Given the description of an element on the screen output the (x, y) to click on. 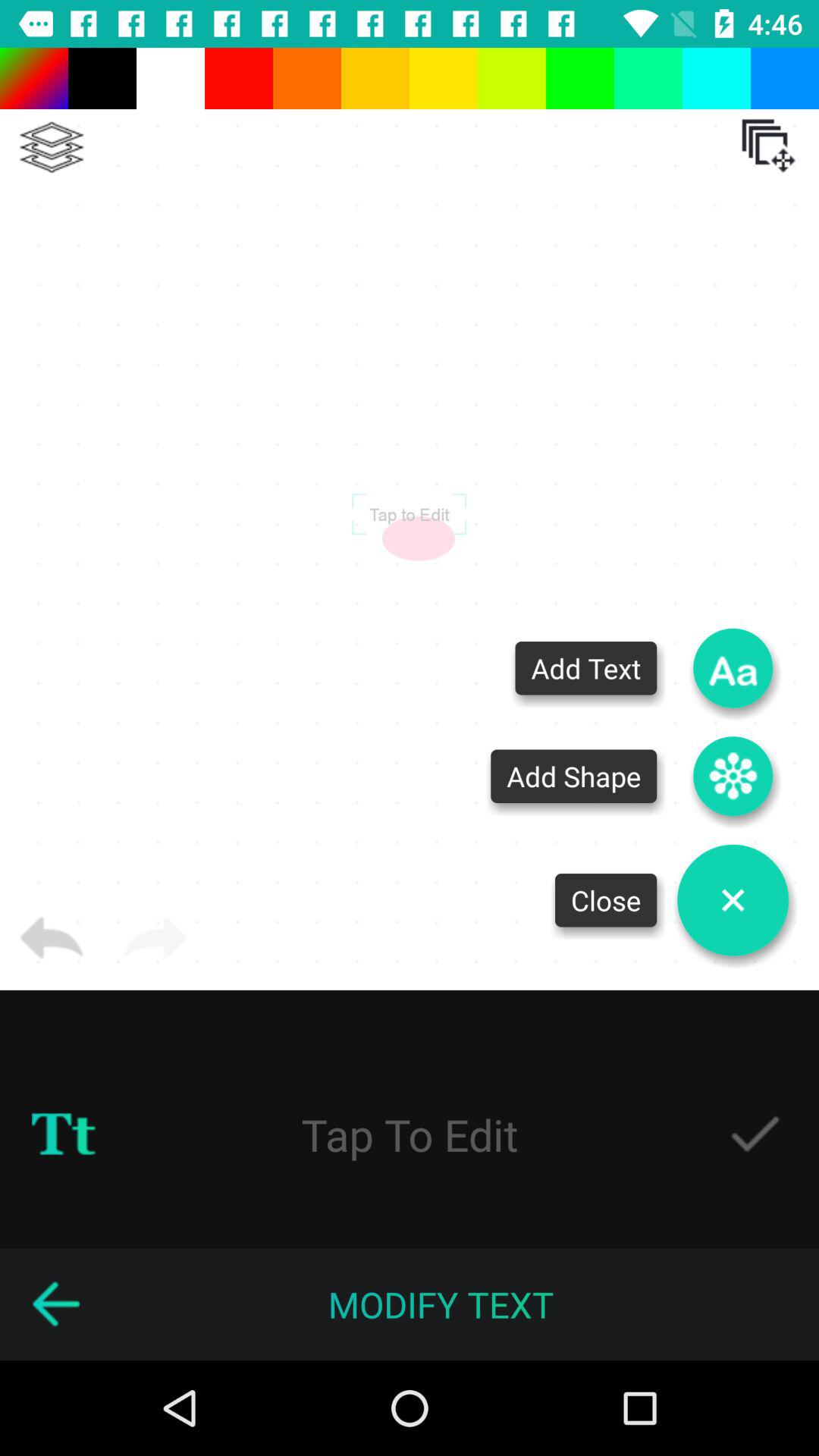
select undo (51, 938)
